Given the description of an element on the screen output the (x, y) to click on. 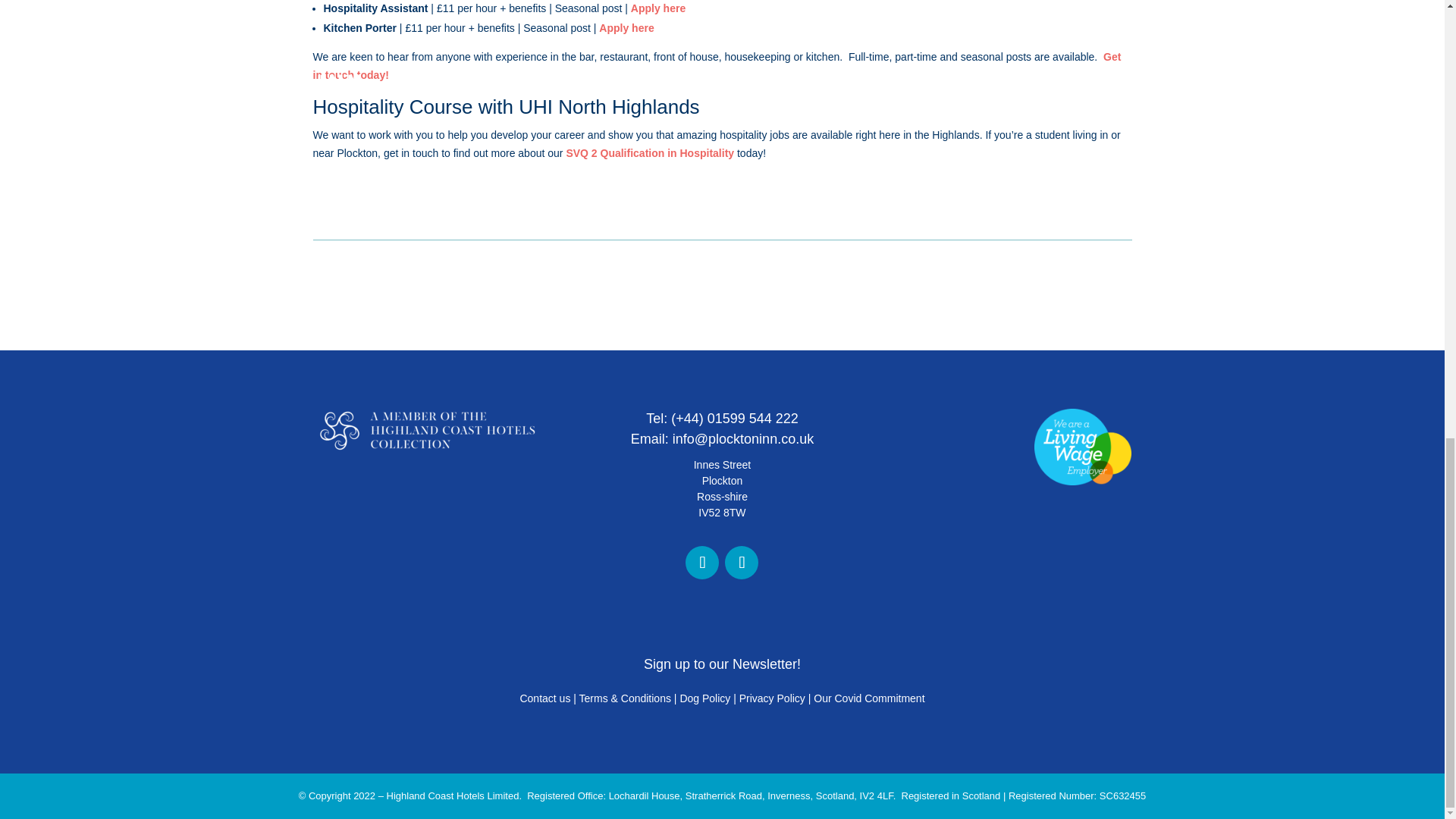
Follow on Facebook (702, 562)
HCH-logo-1 (426, 430)
LW-Employer-logo-trans-300x237-1 (1082, 446)
Follow on Instagram (741, 562)
